Given the description of an element on the screen output the (x, y) to click on. 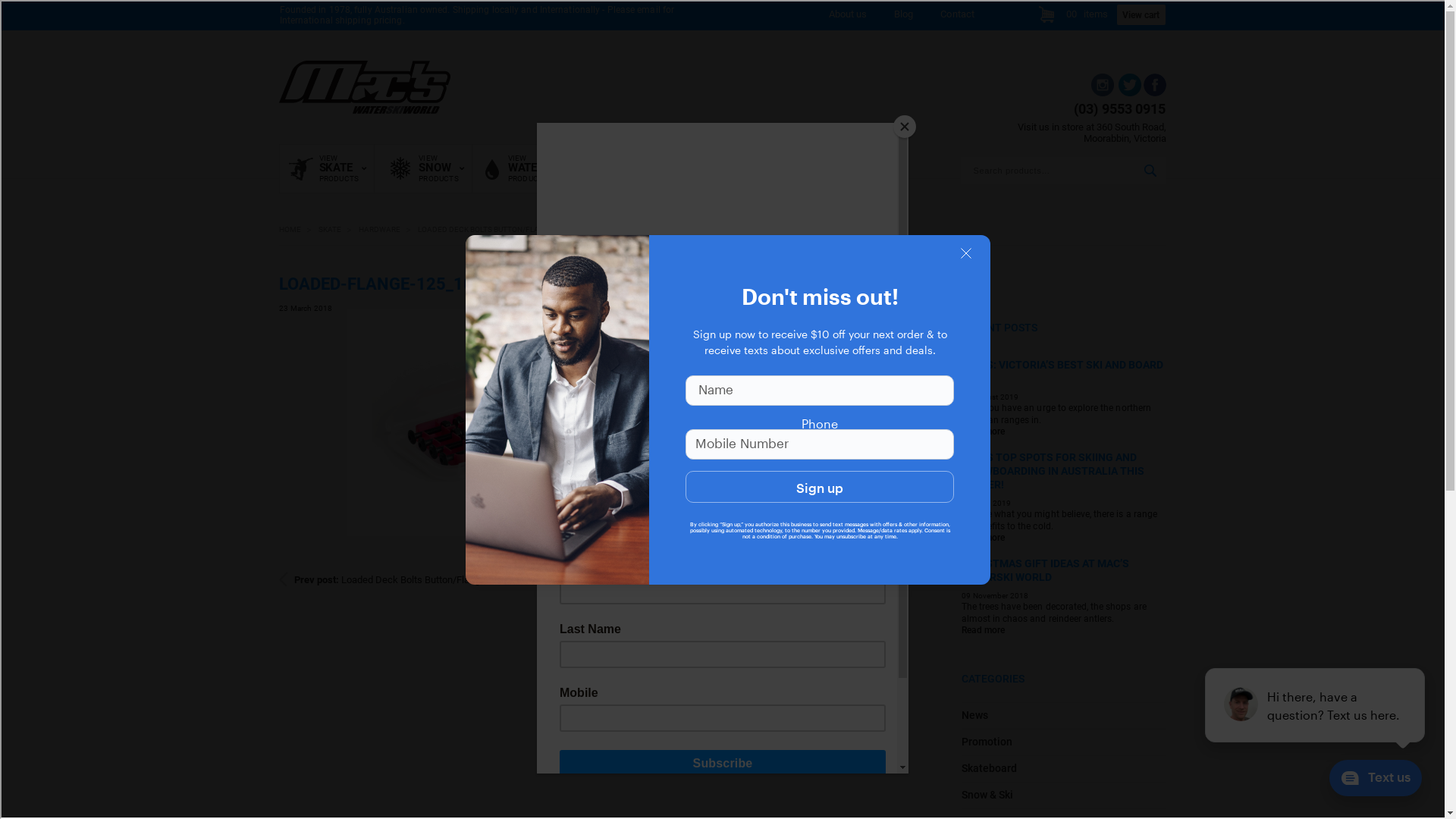
VIEW
SNOW

PRODUCTS Element type: text (423, 168)
  Element type: text (1128, 92)
SKATE Element type: text (334, 229)
2018 Element type: text (322, 308)
23 Element type: text (283, 308)
Search Element type: text (1149, 170)
VIEW
SKATE

PRODUCTS Element type: text (327, 168)
Read more Element type: text (987, 630)
June Element type: text (980, 502)
13 Element type: text (965, 502)
00 items Element type: text (1086, 14)
HOME Element type: text (294, 229)
VIEW
WATER

PRODUCTS Element type: text (516, 168)
2019 Element type: text (1000, 502)
About us Element type: text (847, 16)
HARDWARE Element type: text (383, 229)
View cart Element type: text (1140, 14)
Blog Element type: text (903, 16)
View your shopping cart Element type: hover (1046, 16)
Contact Element type: text (956, 16)
2019 Element type: text (1008, 396)
Read more Element type: text (987, 431)
2018 Element type: text (1019, 595)
March Element type: text (299, 308)
Promotion Element type: text (986, 741)
August Element type: text (984, 396)
(03) 9553 0915 Element type: text (1119, 108)
Read more Element type: text (987, 537)
09 Element type: text (965, 595)
01 Element type: text (965, 396)
Snow & Ski Element type: text (987, 794)
podium webchat widget prompt Element type: hover (1315, 705)
Skateboard Element type: text (989, 768)
November Element type: text (989, 595)
News Element type: text (974, 715)
